Given the description of an element on the screen output the (x, y) to click on. 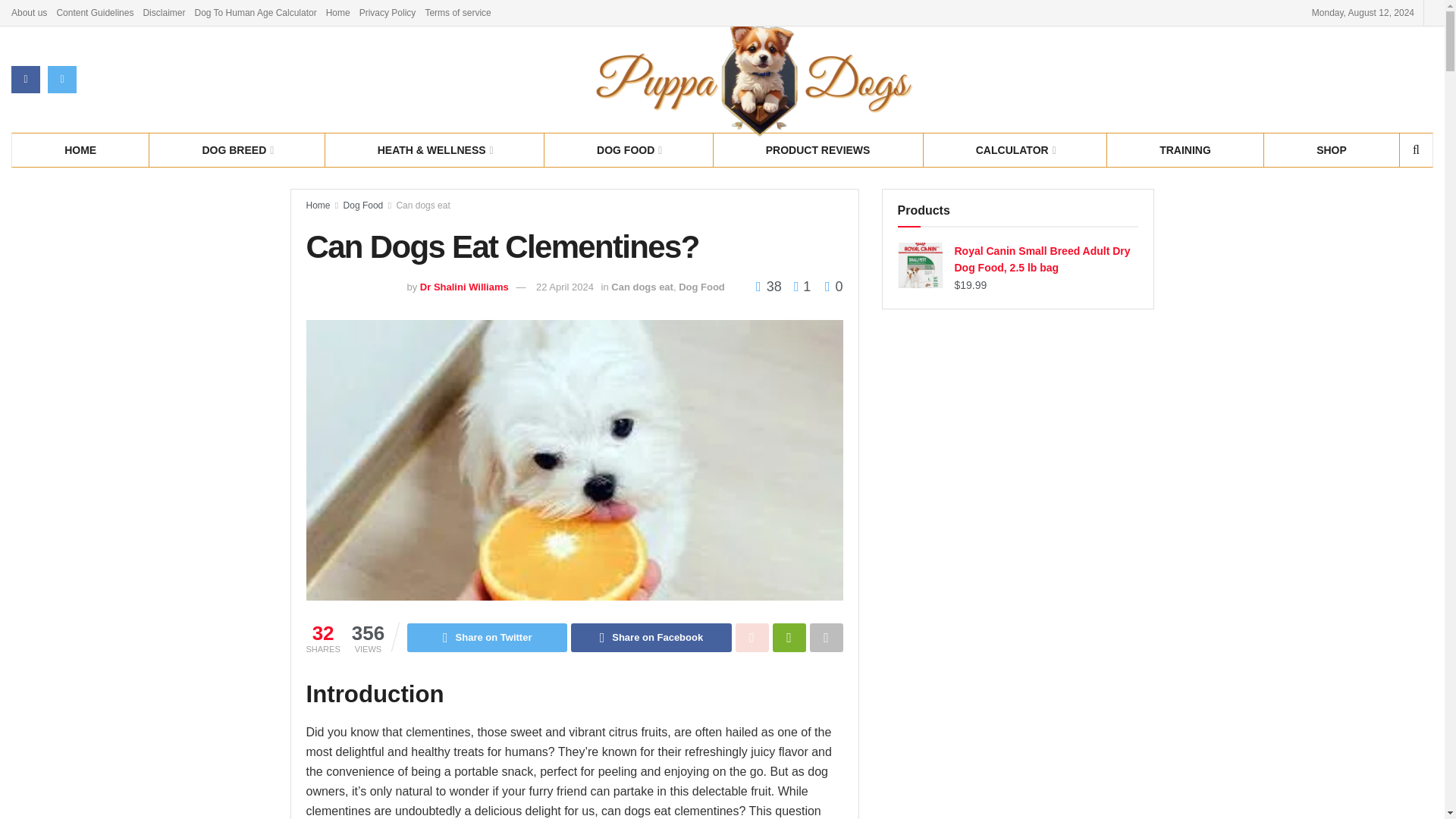
Content Guidelines (94, 12)
Home (338, 12)
Privacy Policy (387, 12)
HOME (80, 149)
Disclaimer (163, 12)
Terms of service (457, 12)
DOG BREED (236, 149)
About us (28, 12)
Dog To Human Age Calculator (254, 12)
